Given the description of an element on the screen output the (x, y) to click on. 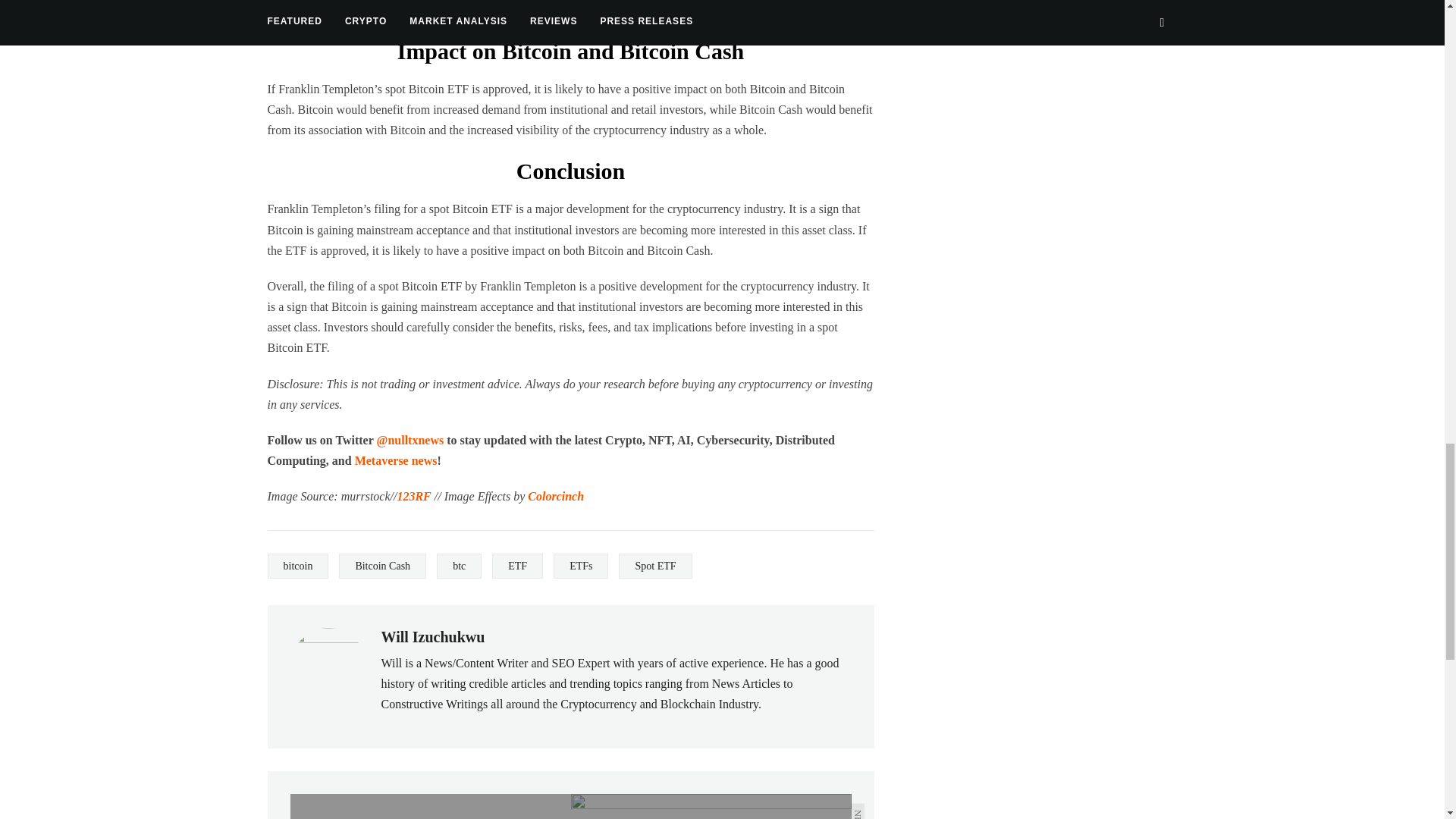
ETHEREUM RECENT DROP SIGNALS CAPITULATION MOVES (429, 806)
Bitcoin Cash (382, 565)
btc (458, 565)
Will Izuchukwu (432, 636)
ETF (517, 565)
Spot ETF (654, 565)
ETFs (580, 565)
Metaverse news (396, 460)
Colorcinch (555, 495)
